Given the description of an element on the screen output the (x, y) to click on. 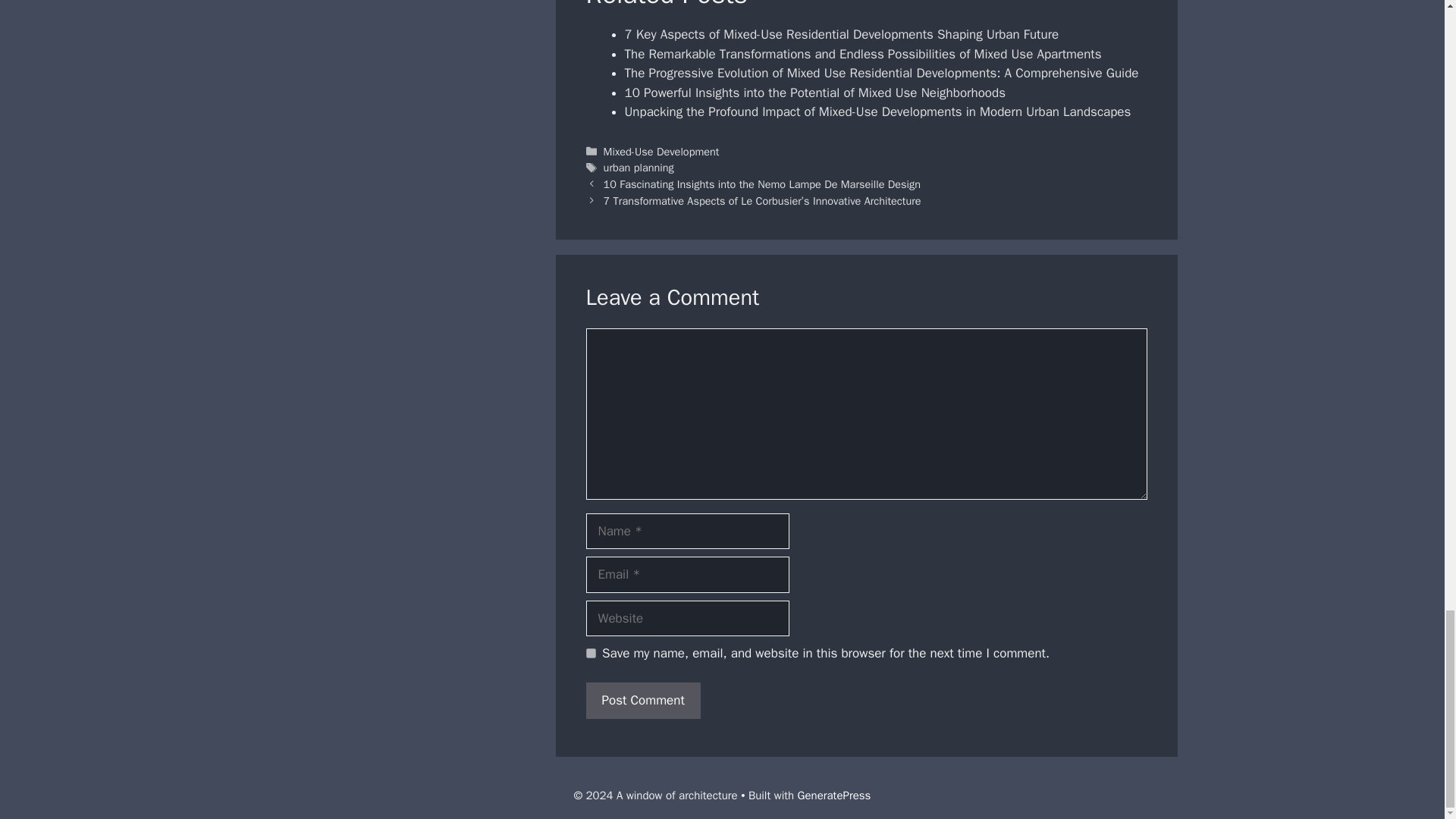
Post Comment (642, 700)
Post Comment (642, 700)
Mixed-Use Development (661, 151)
yes (590, 653)
urban planning (639, 167)
